Given the description of an element on the screen output the (x, y) to click on. 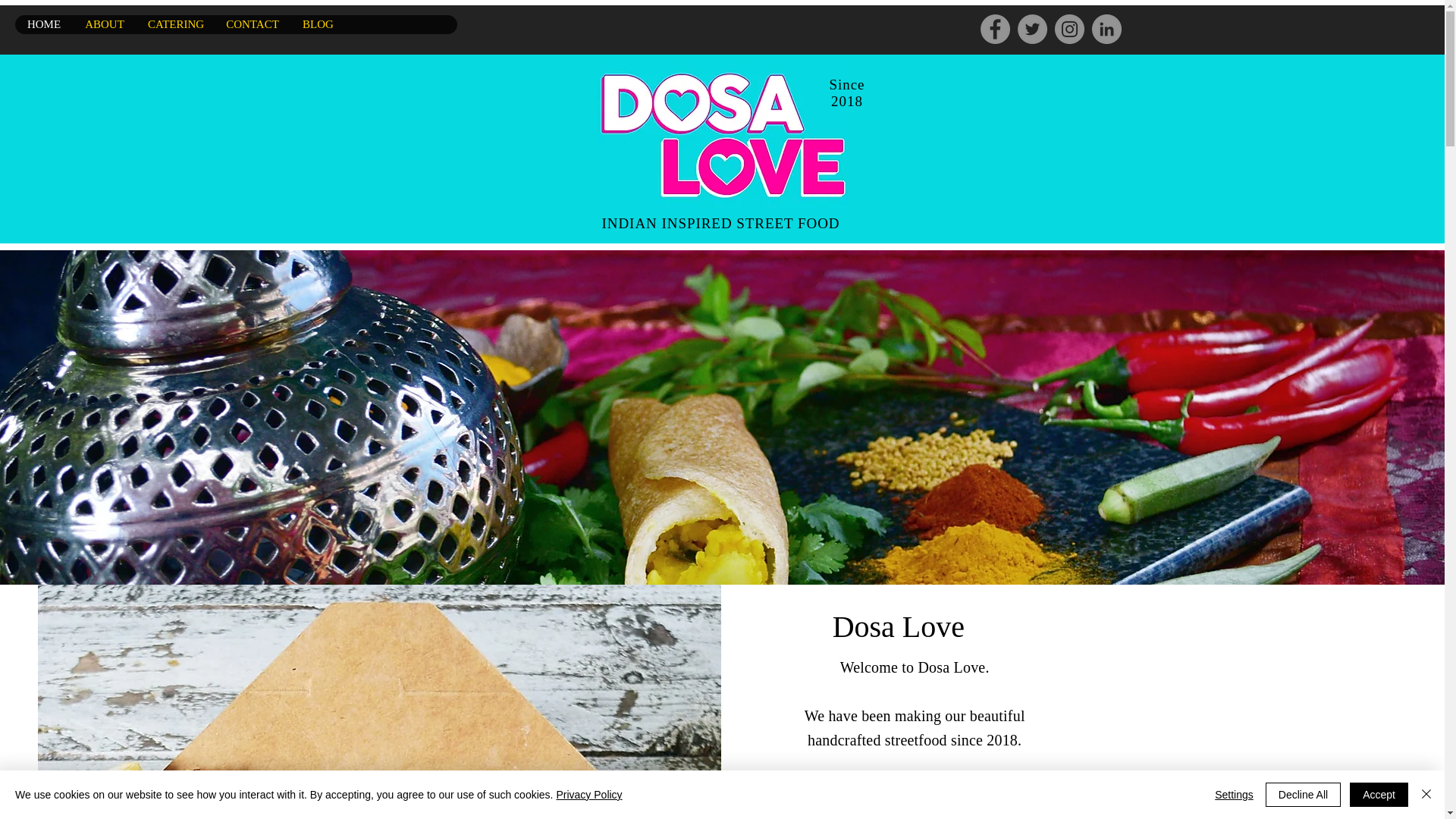
ABOUT (103, 24)
CONTACT (251, 24)
Log In (1017, 24)
HOME (43, 24)
BLOG (316, 24)
Privacy Policy (588, 794)
Decline All (1302, 794)
Accept (1378, 794)
CATERING (174, 24)
